Given the description of an element on the screen output the (x, y) to click on. 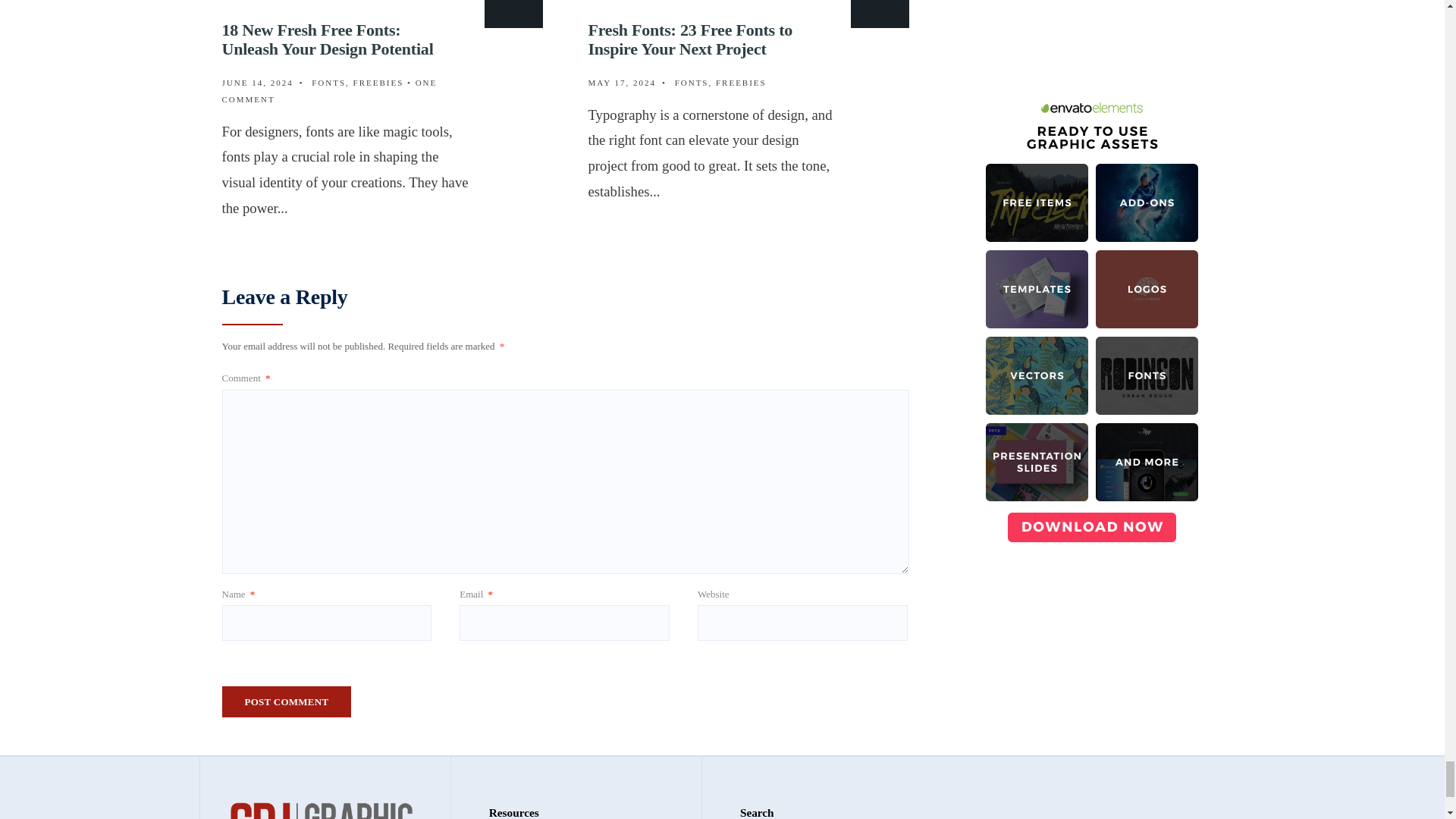
Post Comment (285, 702)
